Given the description of an element on the screen output the (x, y) to click on. 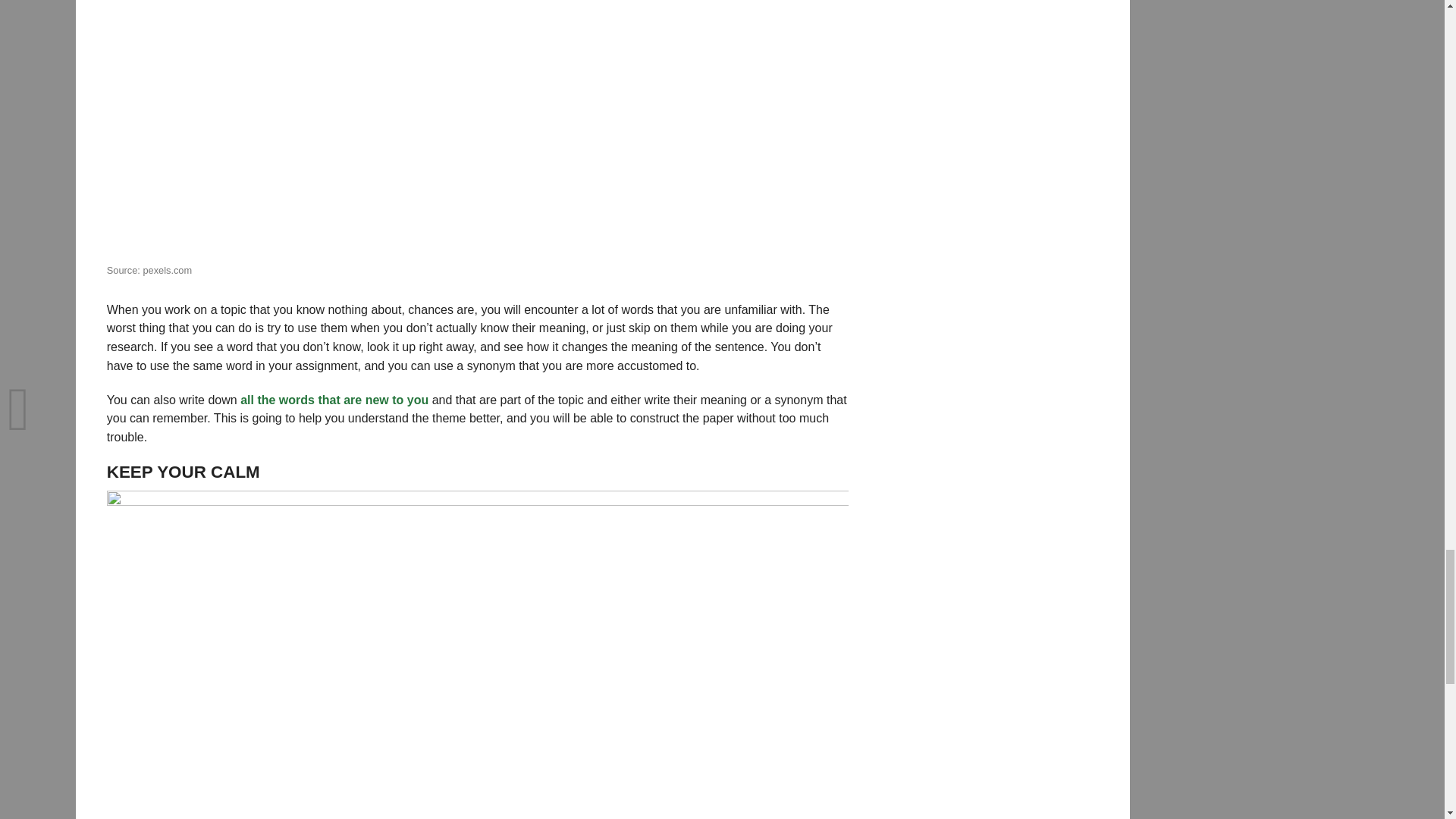
all the words that are new to you (334, 399)
